Given the description of an element on the screen output the (x, y) to click on. 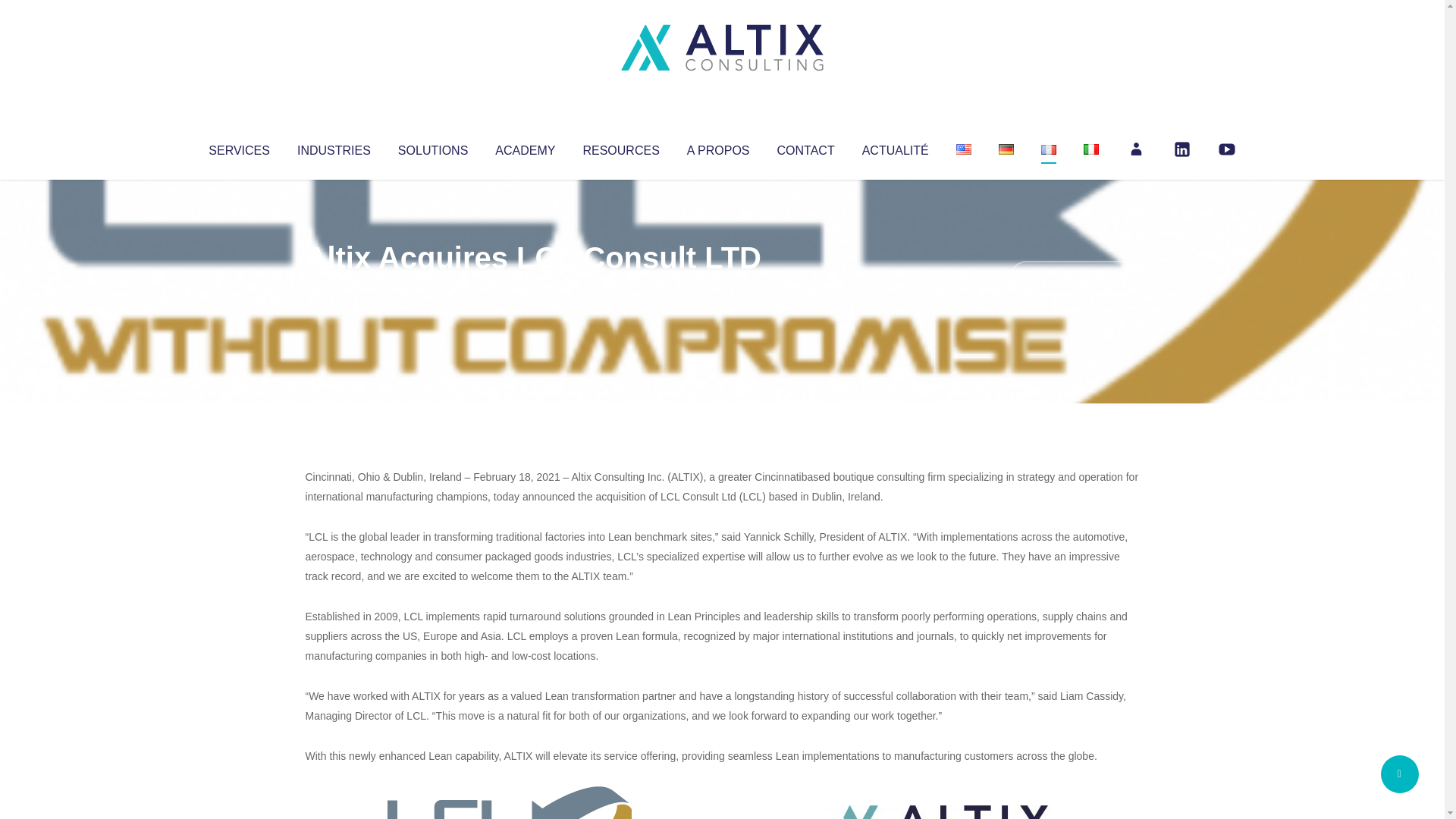
RESOURCES (620, 146)
SOLUTIONS (432, 146)
ACADEMY (524, 146)
Articles par Altix (333, 287)
SERVICES (238, 146)
INDUSTRIES (334, 146)
A PROPOS (718, 146)
Altix (333, 287)
Uncategorized (530, 287)
No Comments (1073, 278)
